Given the description of an element on the screen output the (x, y) to click on. 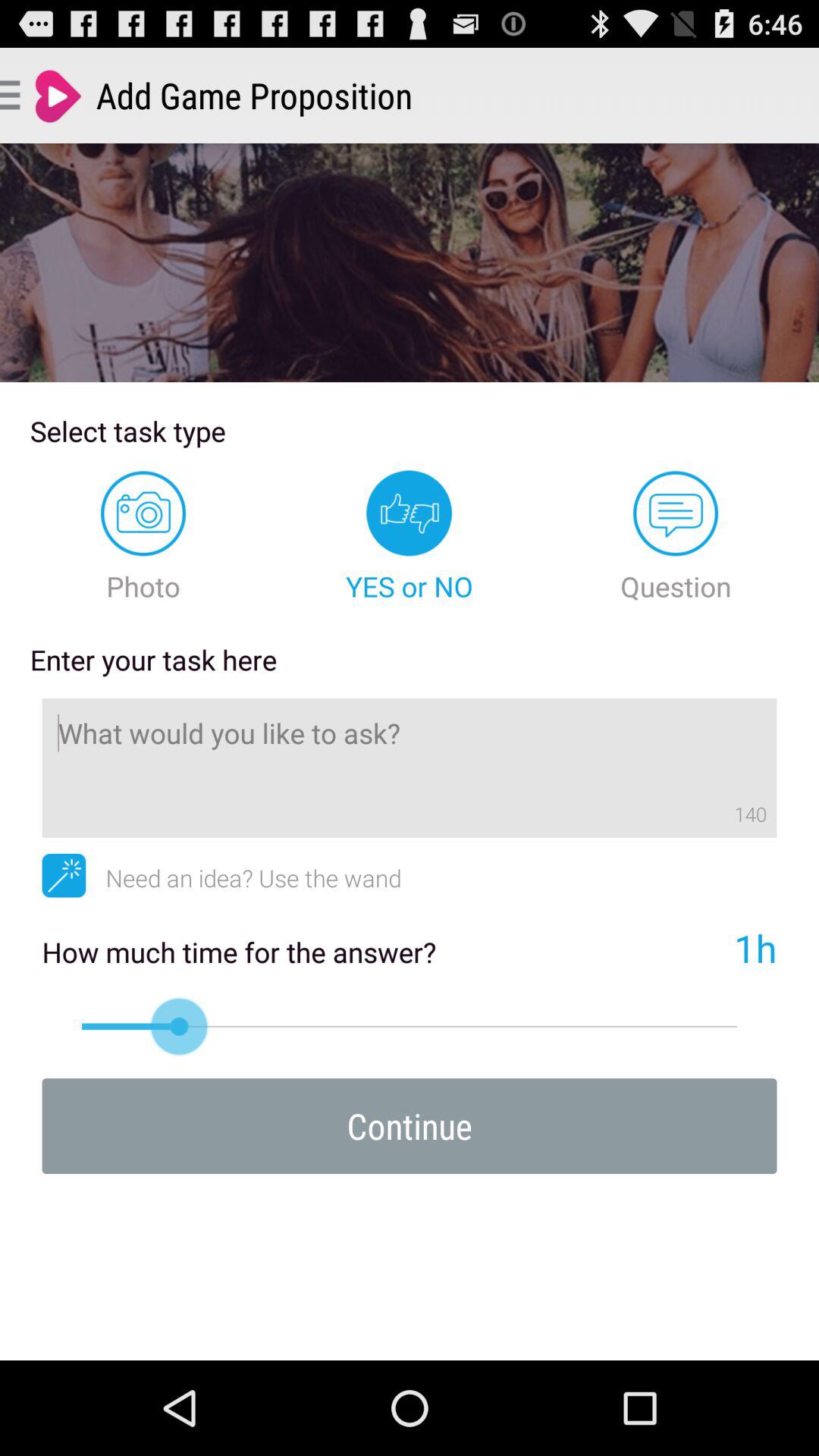
open icon above the enter your task item (143, 537)
